Given the description of an element on the screen output the (x, y) to click on. 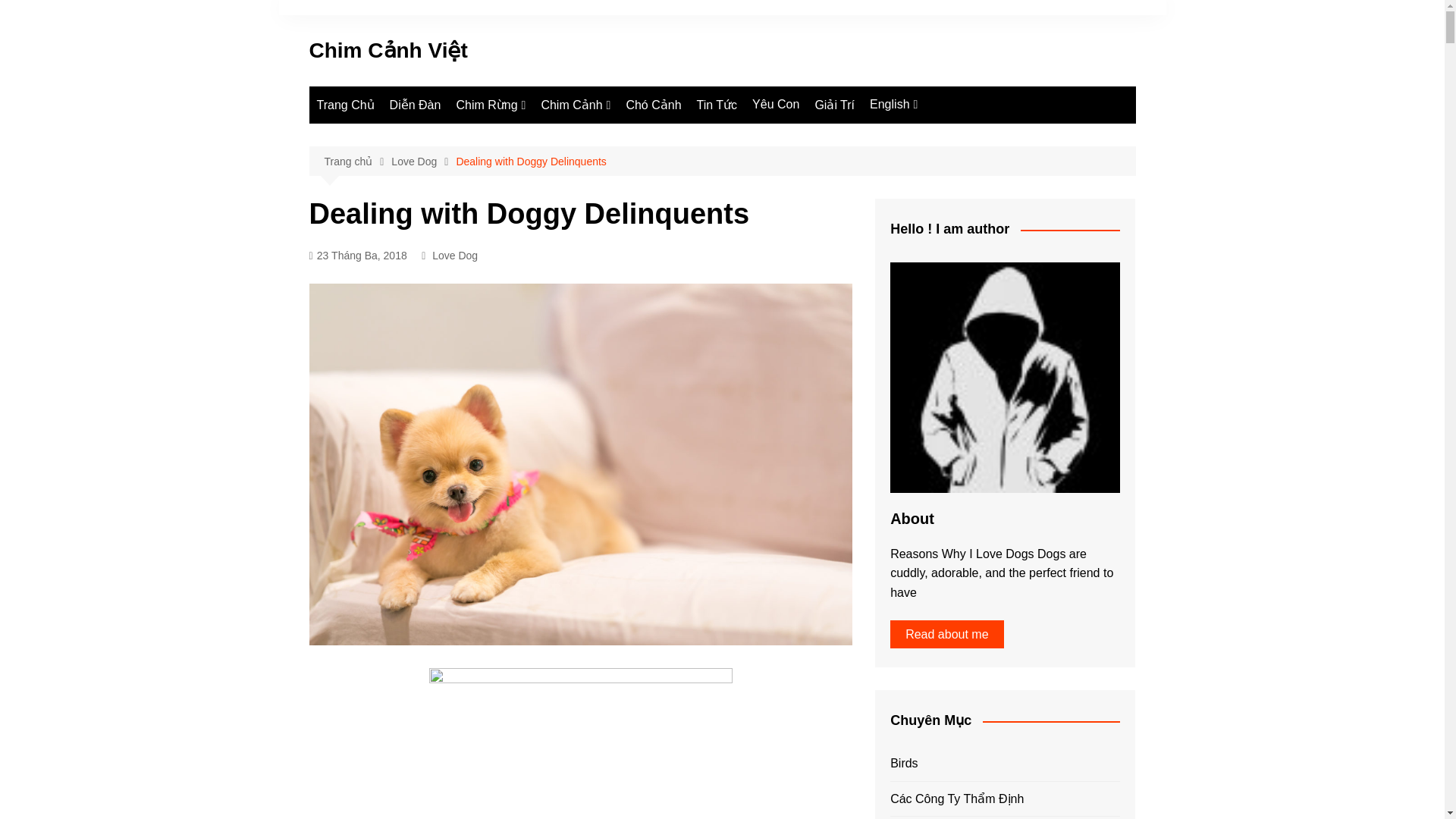
Birds (945, 160)
English (892, 104)
Love Dog (423, 161)
Love Dog (945, 135)
Finch (616, 135)
Dealing with Doggy Delinquents (530, 161)
